Given the description of an element on the screen output the (x, y) to click on. 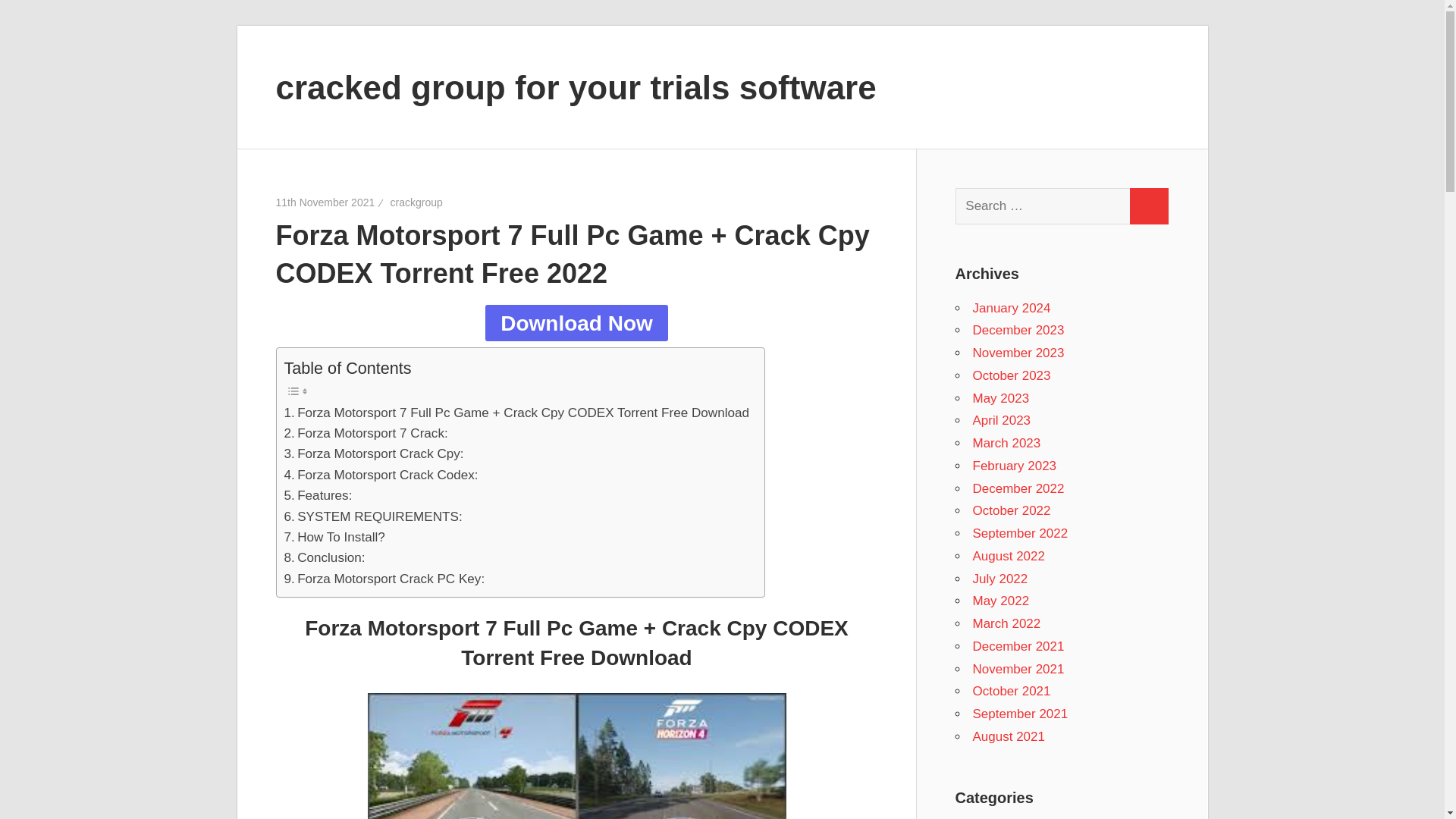
Features: (317, 495)
December 2023 (1018, 329)
Forza Motorsport Crack PC Key: (383, 578)
April 2023 (1001, 420)
Forza Motorsport Crack Codex: (380, 475)
11th November 2021 (325, 202)
Conclusion: (324, 557)
Search (1148, 206)
How To Install? (333, 537)
SYSTEM REQUIREMENTS: (372, 516)
May 2023 (1000, 398)
Forza Motorsport Crack Cpy: (373, 453)
How To Install? (333, 537)
View all posts by crackgroup (416, 202)
crackgroup (416, 202)
